Given the description of an element on the screen output the (x, y) to click on. 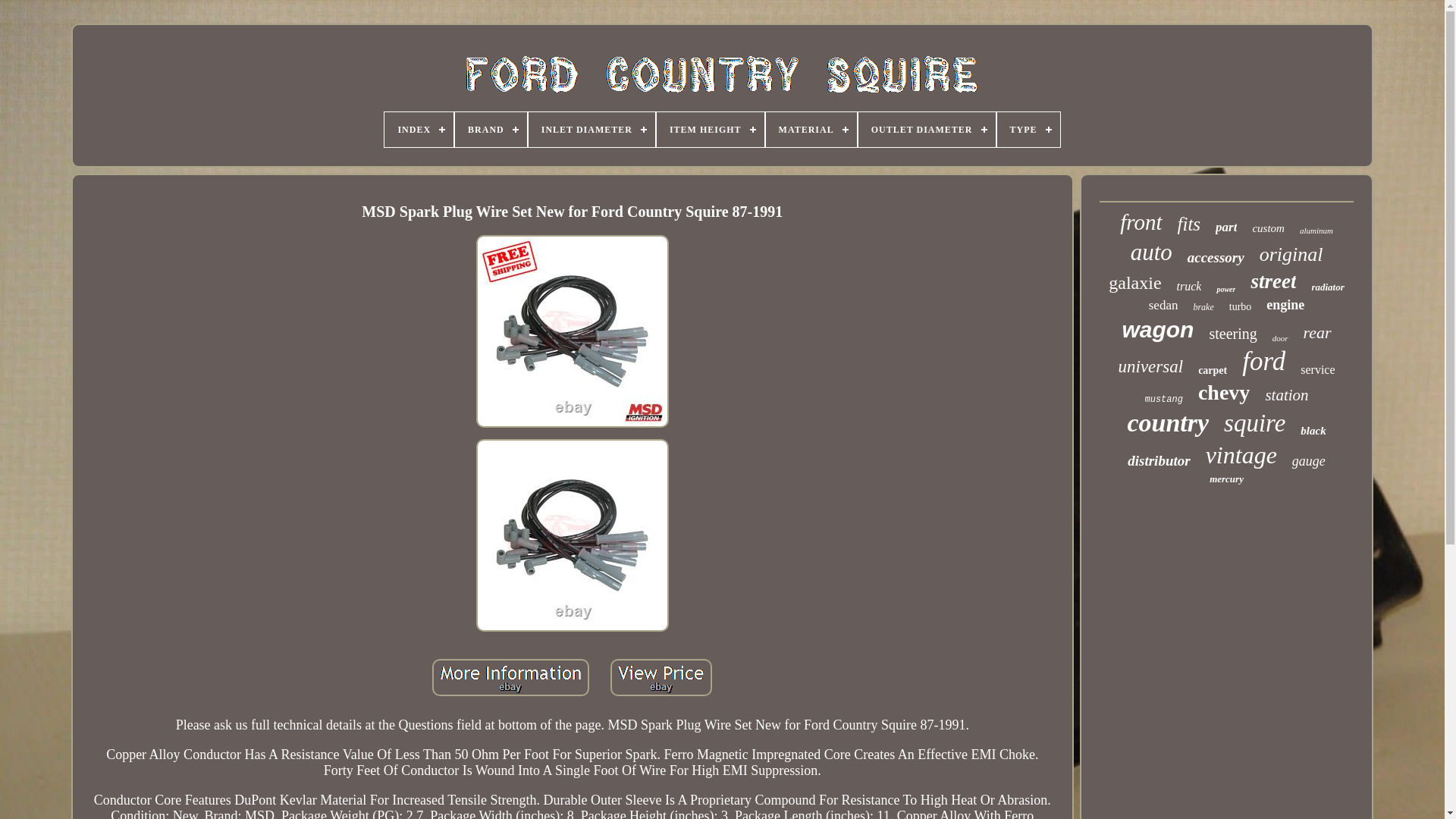
MSD Spark Plug Wire Set New for Ford Country Squire 87-1991 (510, 677)
INDEX (418, 129)
BRAND (490, 129)
MSD Spark Plug Wire Set New for Ford Country Squire 87-1991 (572, 331)
MSD Spark Plug Wire Set New for Ford Country Squire 87-1991 (660, 677)
MSD Spark Plug Wire Set New for Ford Country Squire 87-1991 (572, 534)
INLET DIAMETER (591, 129)
